Given the description of an element on the screen output the (x, y) to click on. 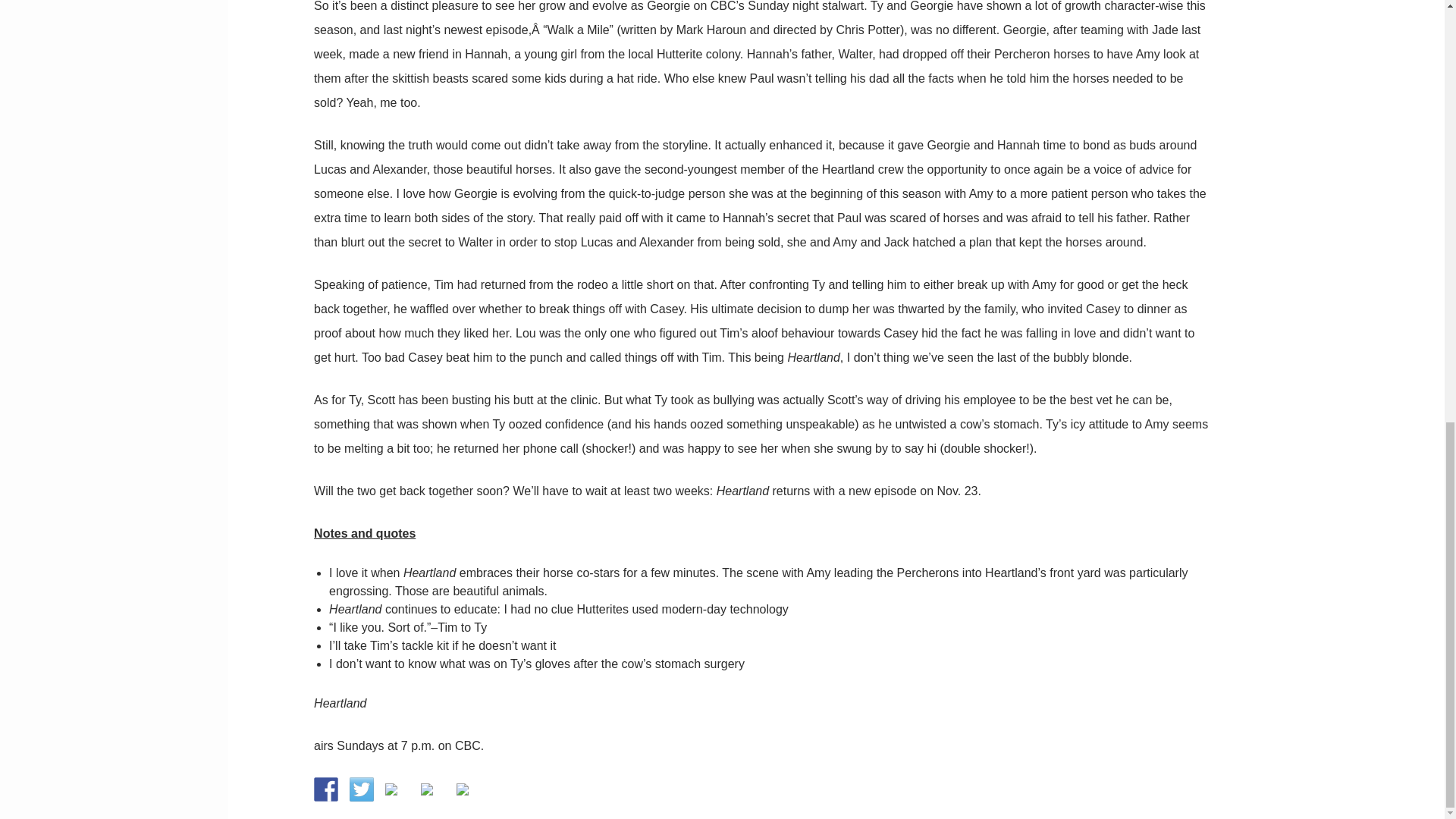
Share by email (462, 788)
Share on Linkedin (432, 794)
Share on Reddit (397, 794)
Share on Facebook (325, 789)
Share on Linkedin (426, 788)
Share on Reddit (391, 788)
Share by email (468, 794)
Share on Twitter (361, 789)
